Given the description of an element on the screen output the (x, y) to click on. 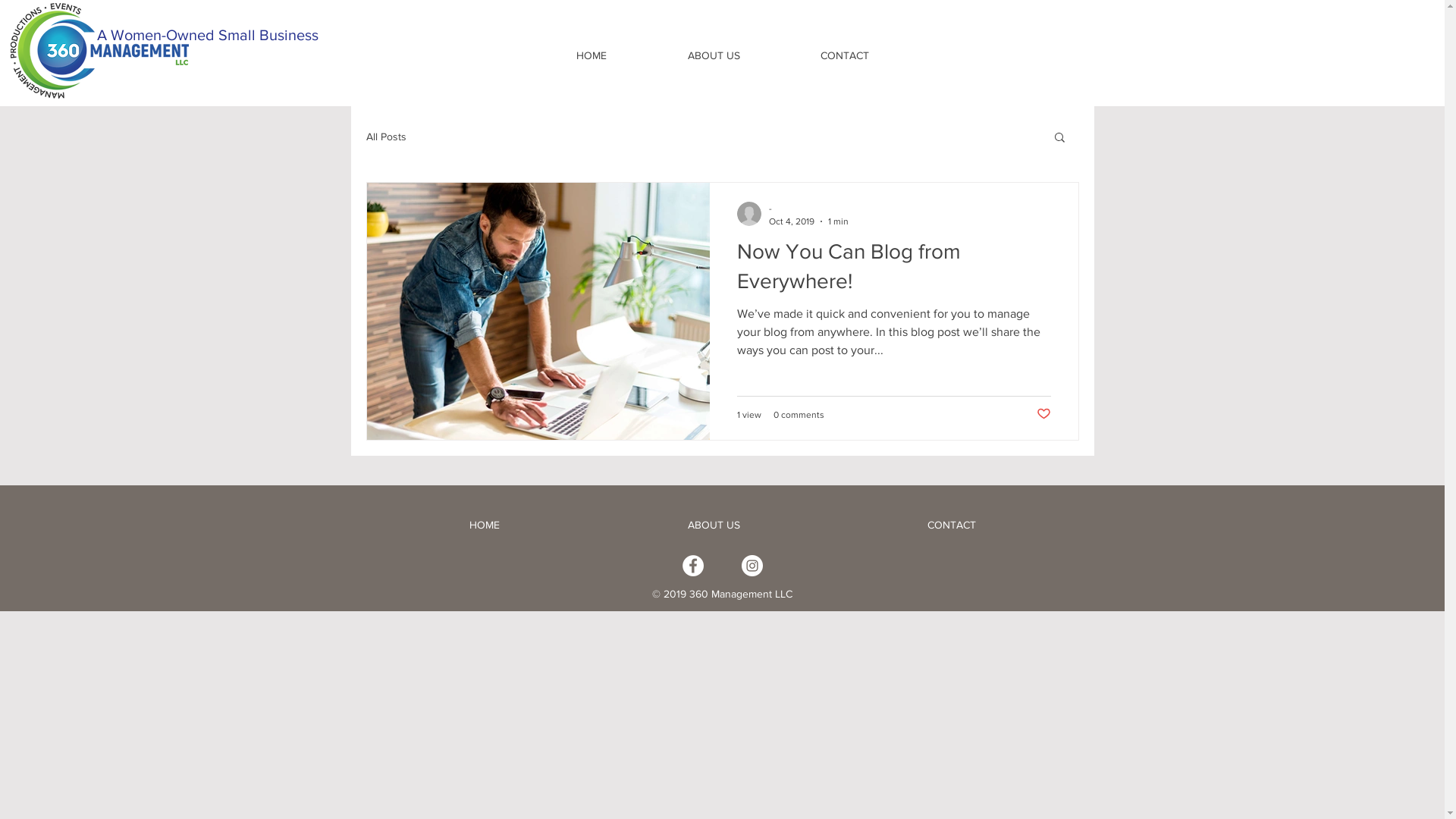
CONTACT Element type: text (952, 524)
HOME Element type: text (483, 524)
ABOUT US Element type: text (713, 55)
Post not marked as liked Element type: text (1042, 414)
0 comments Element type: text (798, 414)
HOME Element type: text (590, 55)
- Element type: text (808, 208)
ABOUT US Element type: text (713, 524)
CONTACT Element type: text (843, 55)
Now You Can Blog from Everywhere! Element type: text (894, 269)
All Posts Element type: text (385, 136)
